Given the description of an element on the screen output the (x, y) to click on. 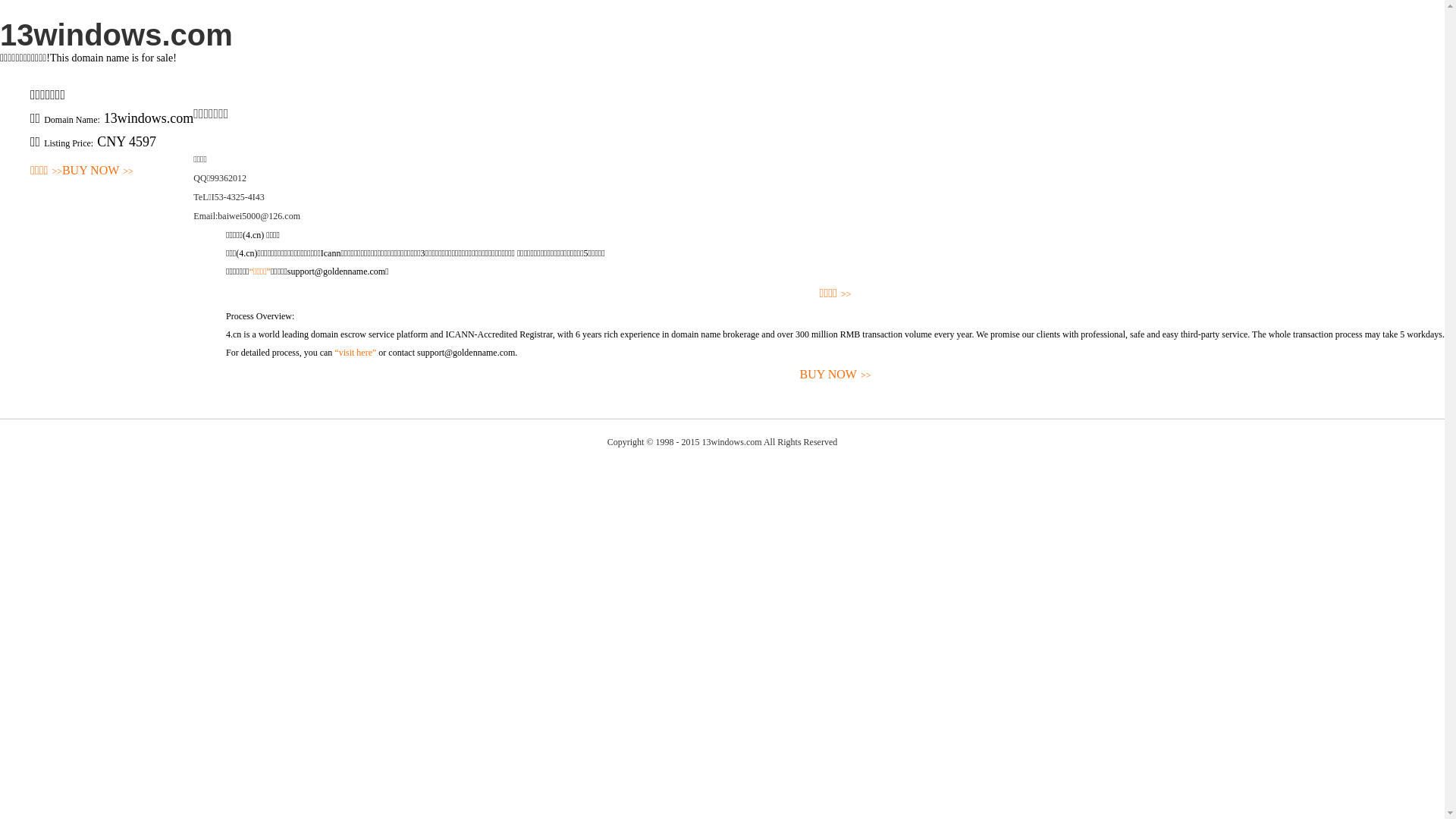
BUY NOW>> Element type: text (834, 374)
BUY NOW>> Element type: text (97, 170)
